Given the description of an element on the screen output the (x, y) to click on. 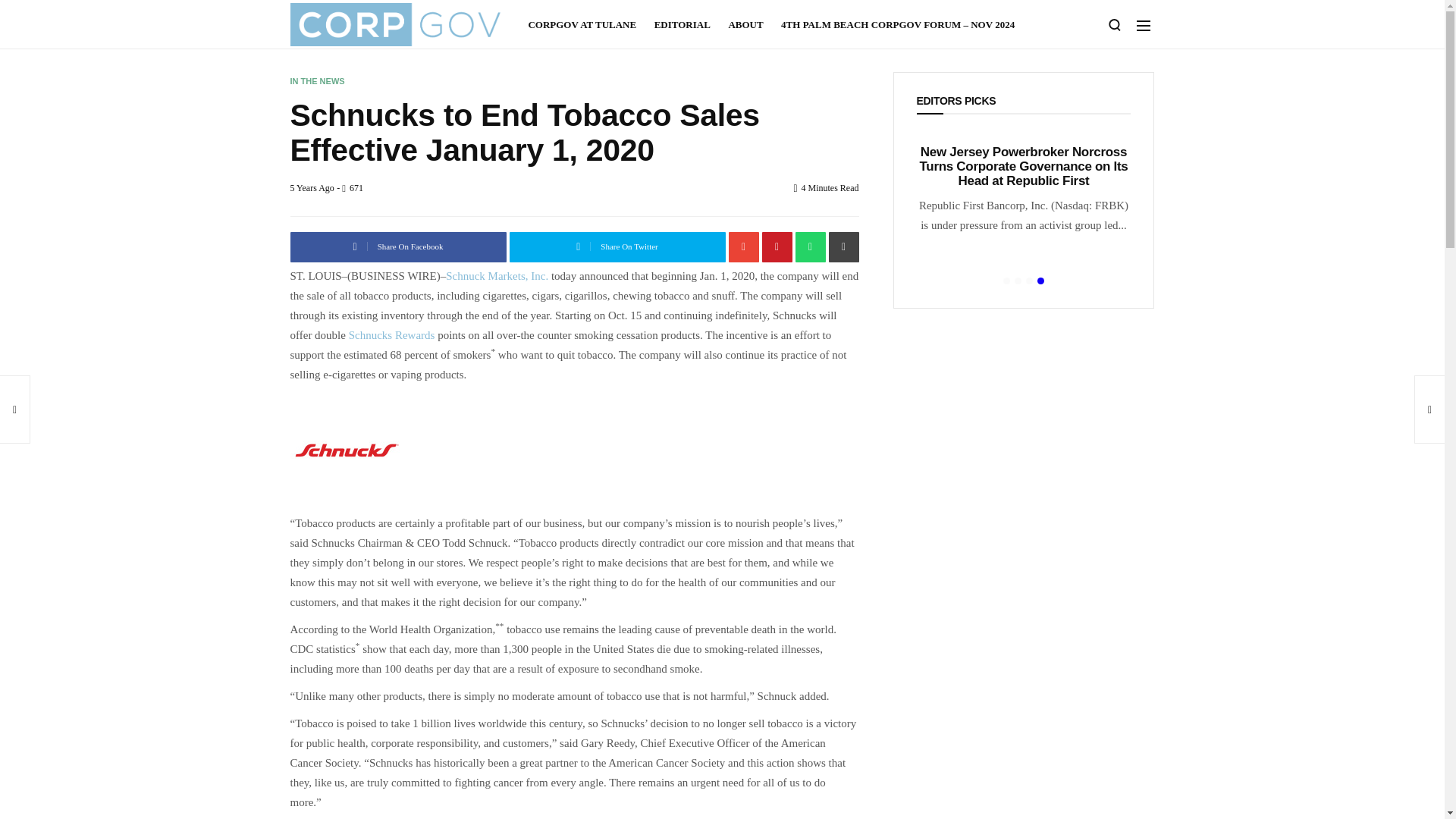
ABOUT (745, 24)
CORPGOV AT TULANE (585, 24)
Schnucks Rewards (392, 335)
Share On Facebook (397, 246)
5 Years Ago (311, 187)
Schnuck Markets, Inc. (496, 275)
EDITORIAL (681, 24)
IN THE NEWS (316, 80)
Share On Twitter (617, 246)
